Given the description of an element on the screen output the (x, y) to click on. 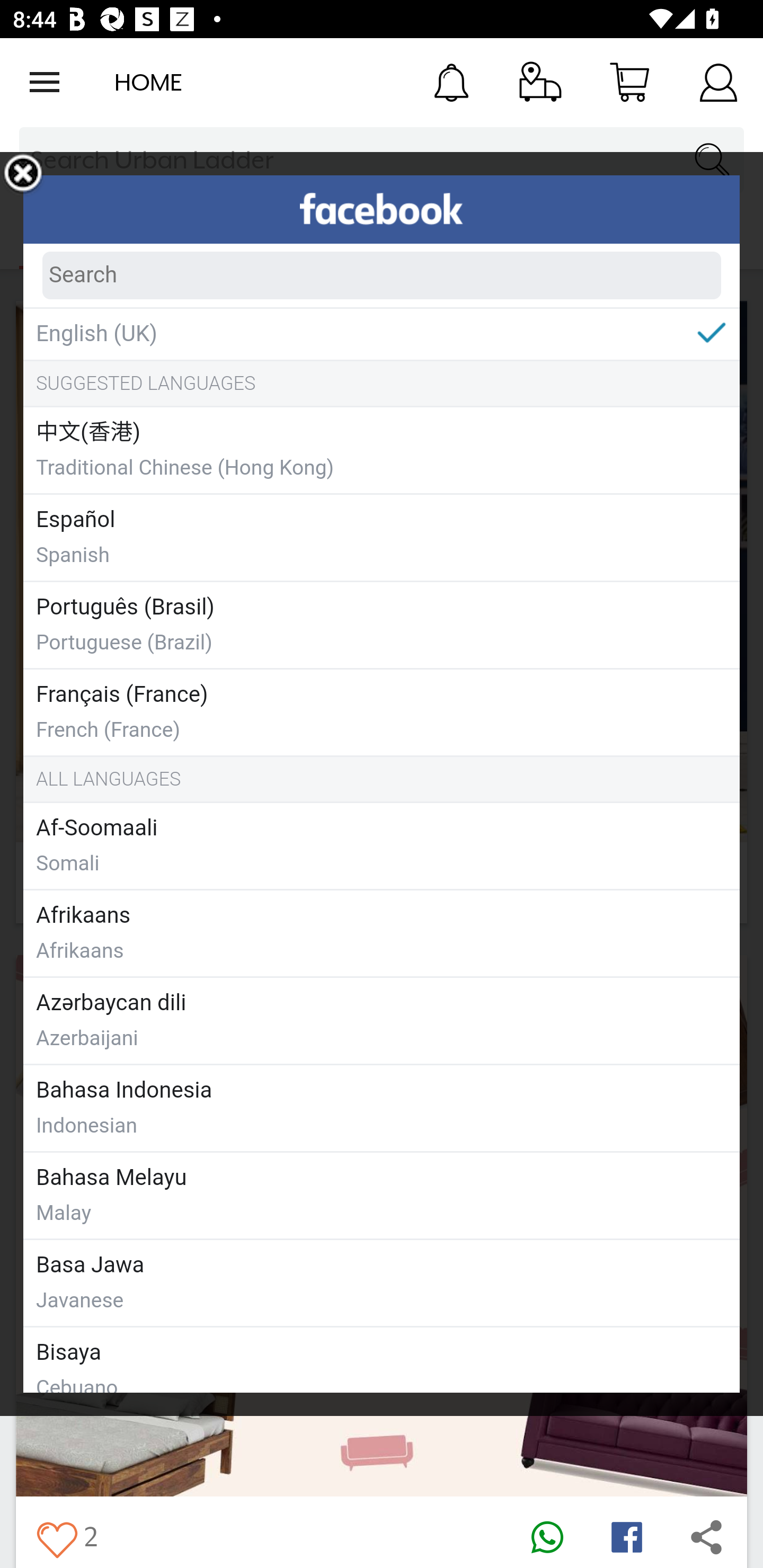
facebook (381, 208)
中文(香港)Traditional Chinese (Hong Kong) (381, 449)
EspañolSpanish (381, 536)
Português (Brasil)Portuguese (Brazil) (381, 623)
Français (France)French (France) (381, 711)
Af-SoomaaliSomali (381, 845)
AfrikaansAfrikaans (381, 932)
Azərbaycan diliAzerbaijani (381, 1019)
Bahasa IndonesiaIndonesian (381, 1106)
Bahasa MelayuMalay (381, 1194)
Basa JawaJavanese (381, 1282)
BisayaCebuano (381, 1359)
